Given the description of an element on the screen output the (x, y) to click on. 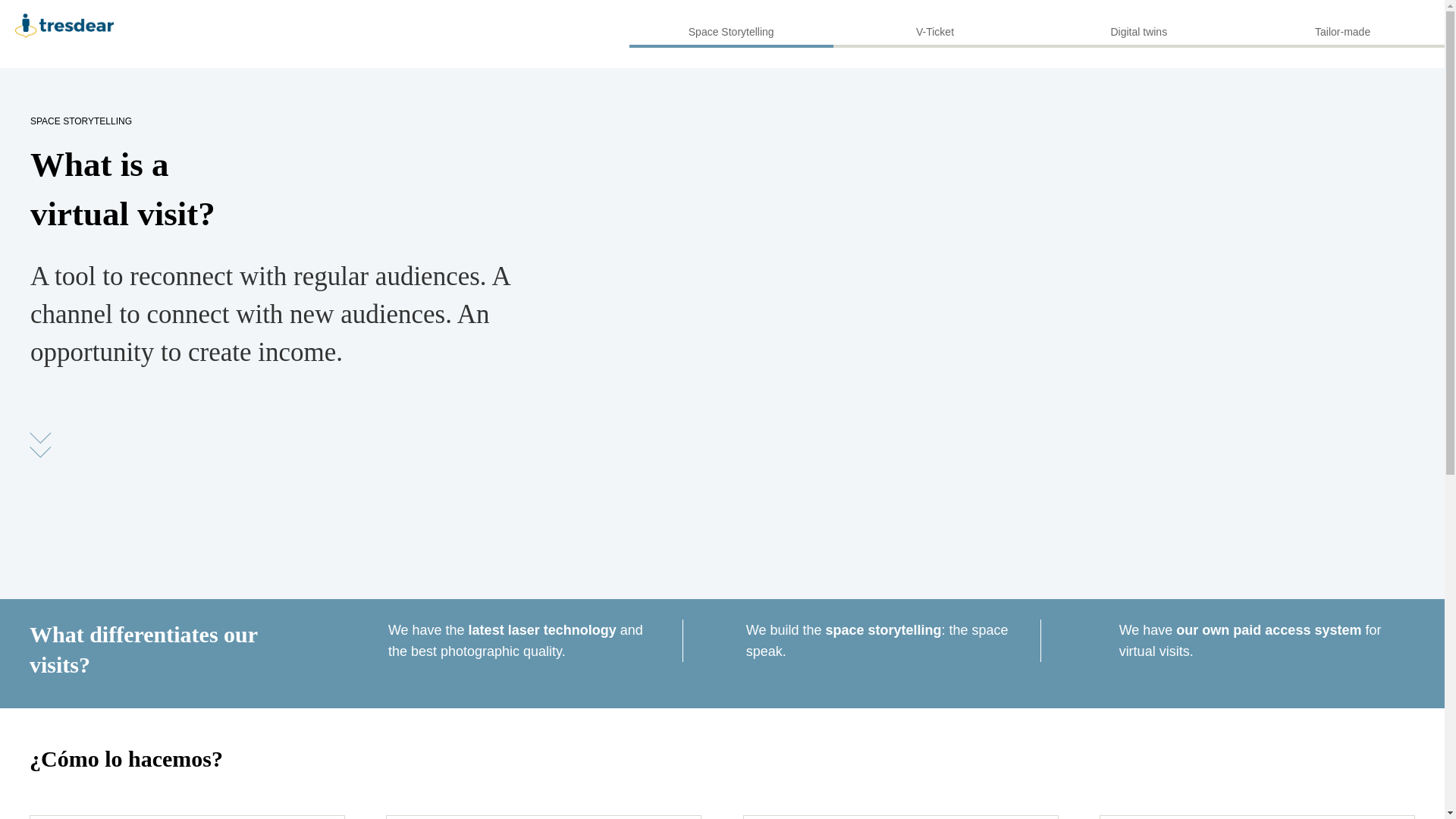
V-Ticket (934, 24)
Tailor-made (1342, 24)
Space Storytelling (731, 24)
Digital twins (1138, 24)
flecha (39, 444)
